Given the description of an element on the screen output the (x, y) to click on. 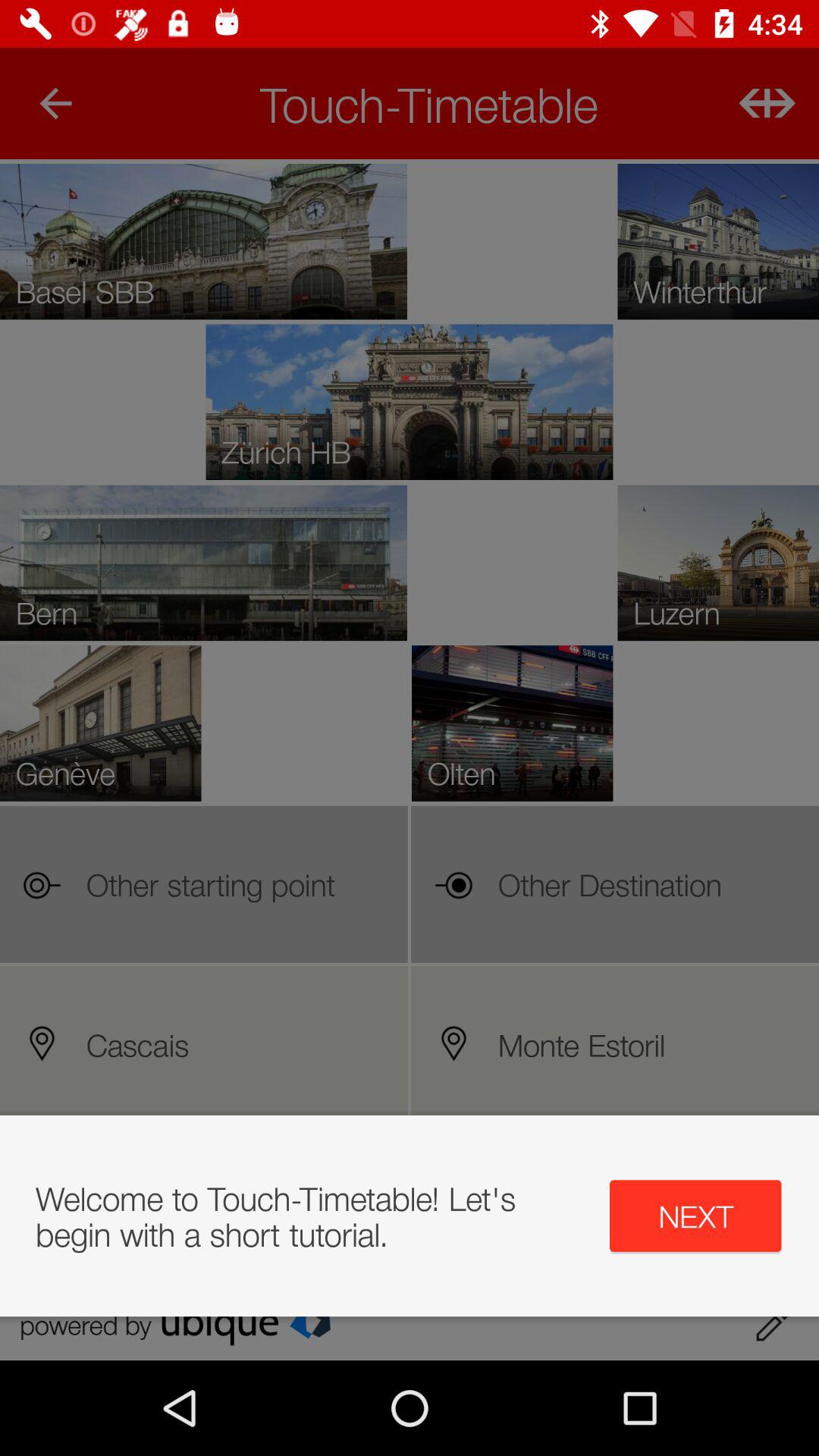
launch the icon at the center (409, 759)
